Given the description of an element on the screen output the (x, y) to click on. 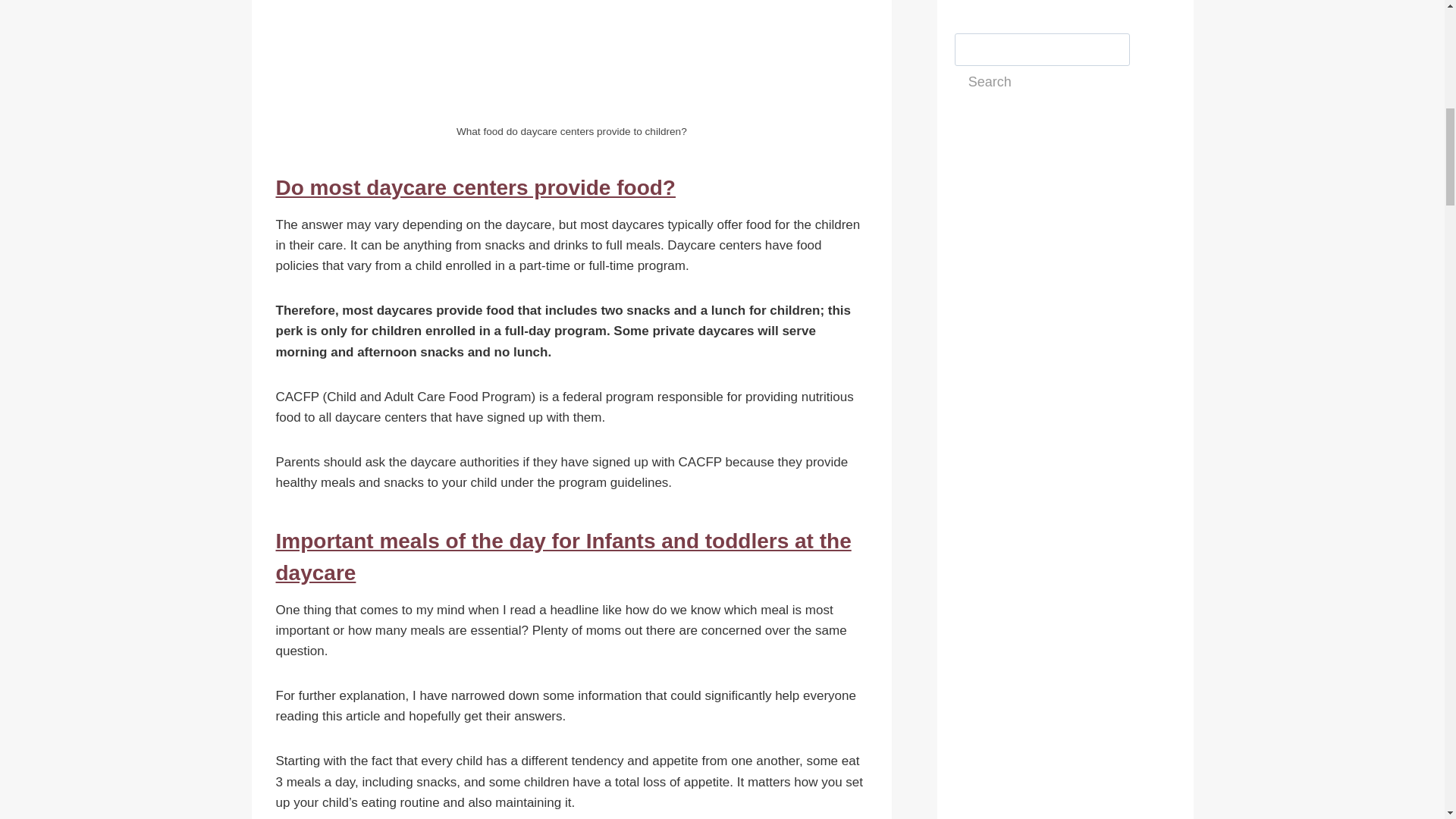
What food do daycare centers provide to children? (571, 61)
